Given the description of an element on the screen output the (x, y) to click on. 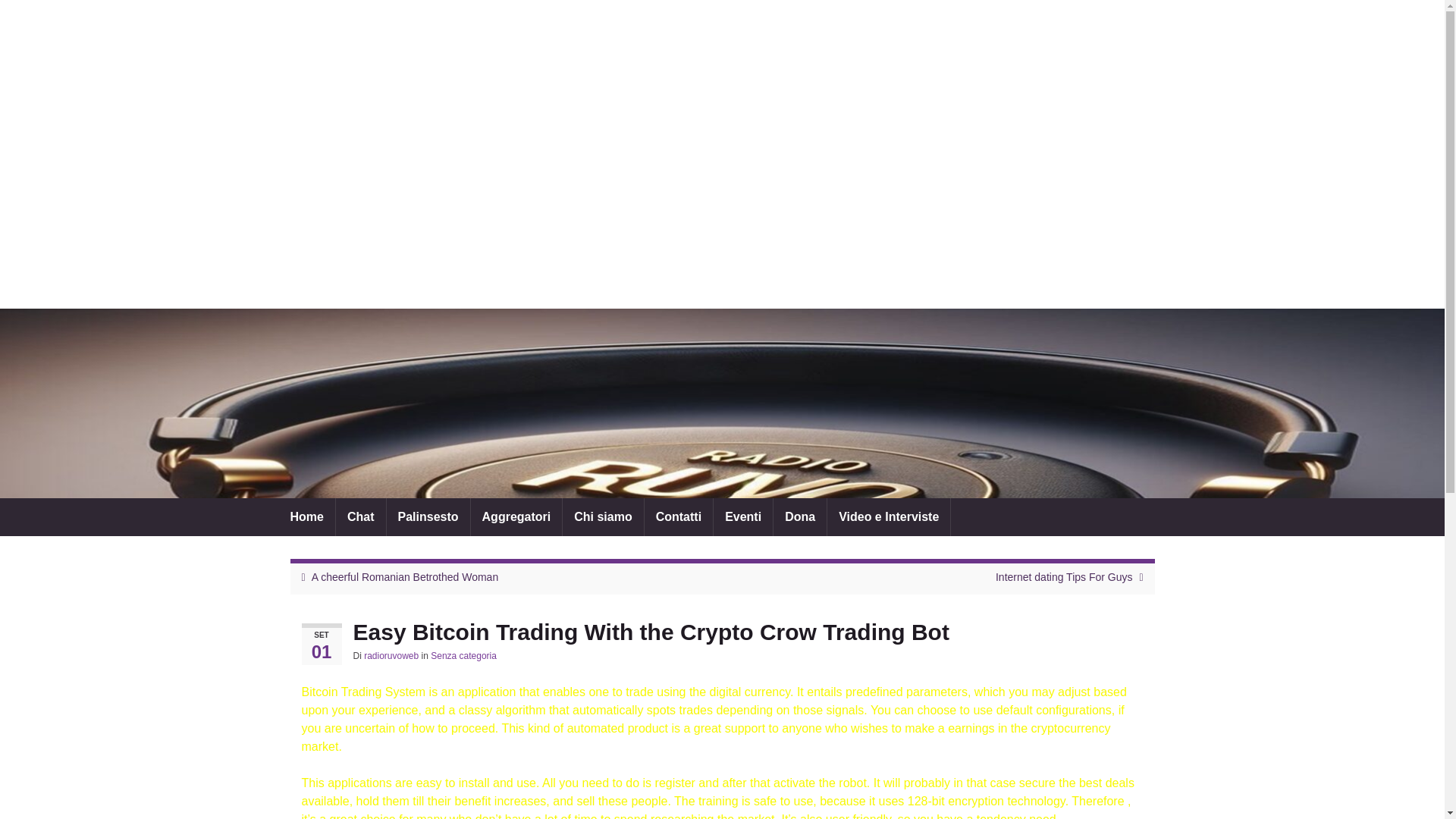
A cheerful Romanian Betrothed Woman (404, 576)
Aggregatori (516, 516)
Senza categoria (463, 655)
Contatti (679, 516)
Internet dating Tips For Guys (1063, 576)
Chat (360, 516)
Video e Interviste (888, 516)
Eventi (743, 516)
Palinsesto (428, 516)
Chi siamo (602, 516)
radioruvoweb (391, 655)
Dona (800, 516)
Home (306, 516)
